Given the description of an element on the screen output the (x, y) to click on. 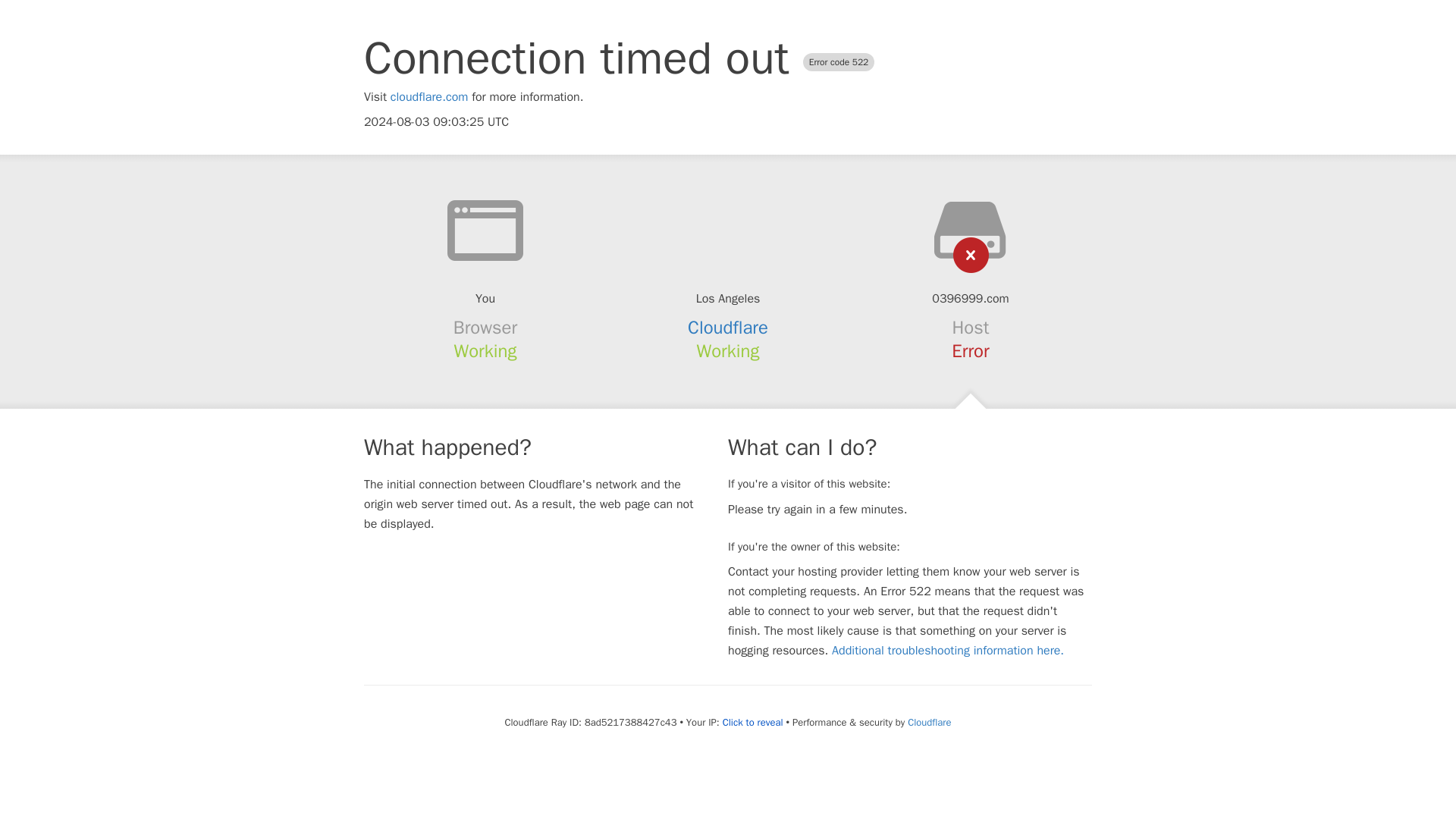
cloudflare.com (429, 96)
Click to reveal (752, 722)
Additional troubleshooting information here. (947, 650)
Cloudflare (928, 721)
Cloudflare (727, 327)
